Given the description of an element on the screen output the (x, y) to click on. 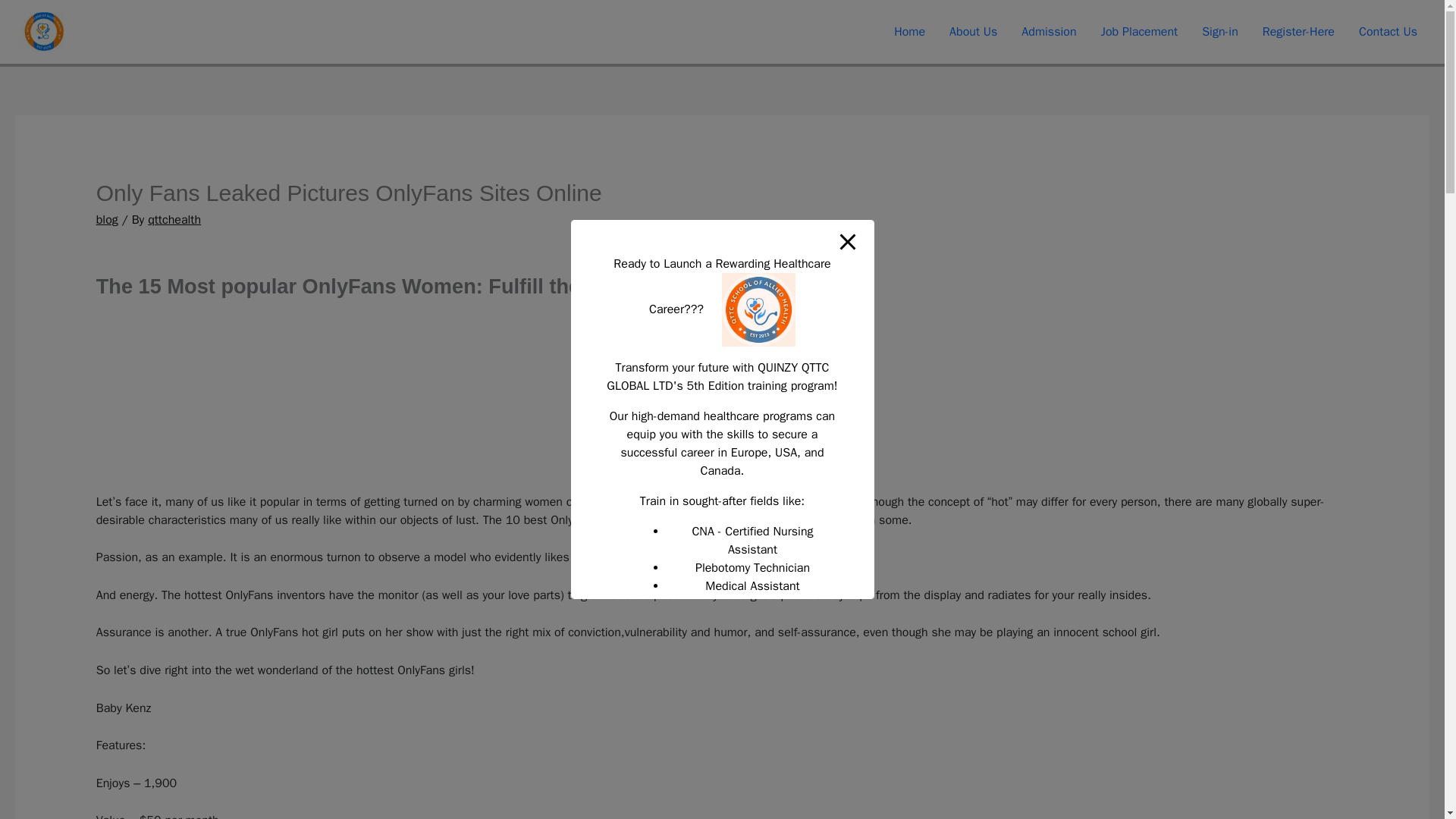
View all posts by qttchealth (174, 219)
About Us (973, 31)
Contact Us (1387, 31)
Register-Here (1298, 31)
qttchealth (174, 219)
Home (909, 31)
Job Placement (1140, 31)
Admission (1048, 31)
Sign-in (1219, 31)
blog (106, 219)
